Given the description of an element on the screen output the (x, y) to click on. 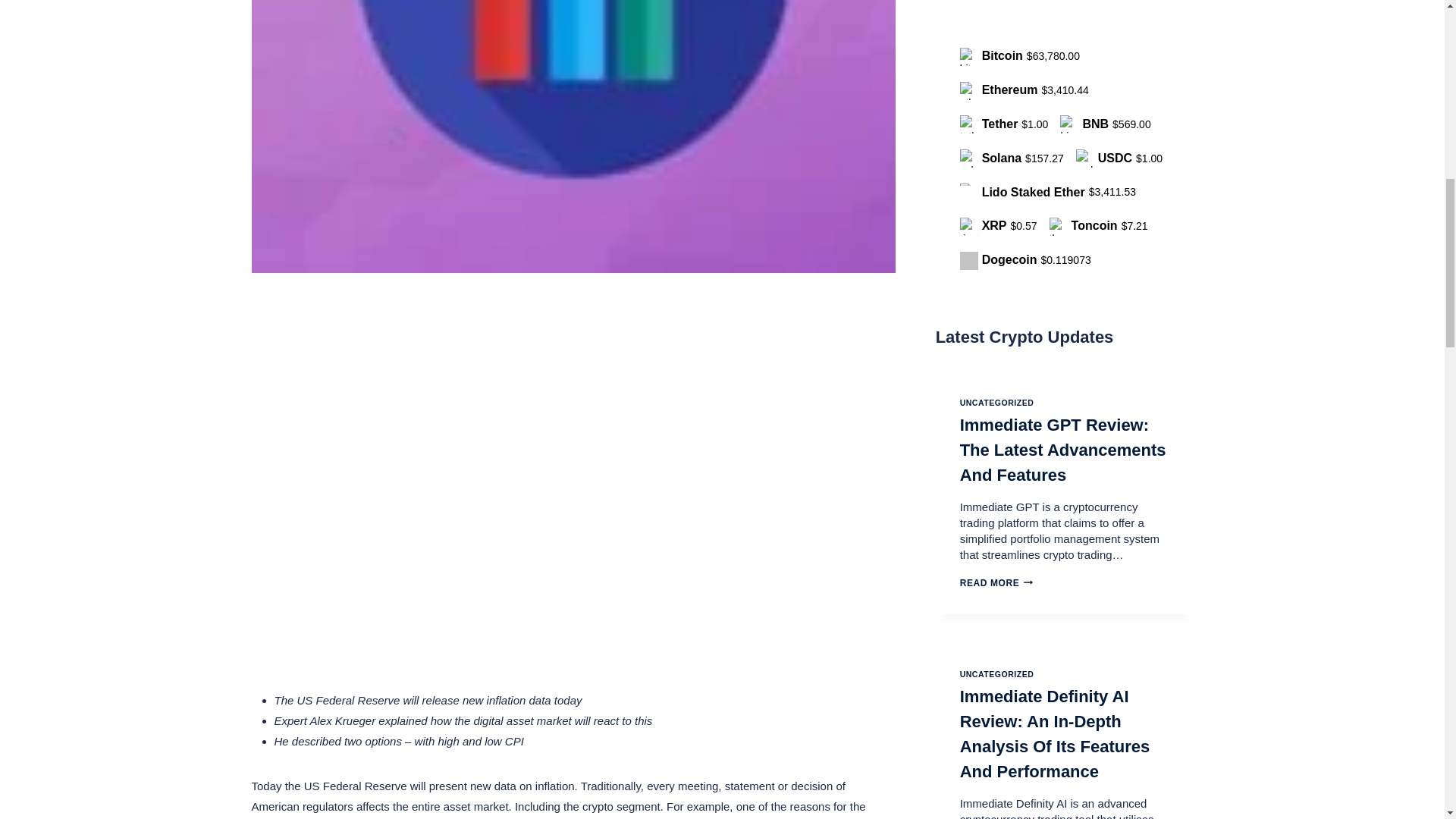
Immediate GPT Review: The Latest Advancements And Features (1062, 449)
UNCATEGORIZED (996, 673)
UNCATEGORIZED (996, 402)
